Given the description of an element on the screen output the (x, y) to click on. 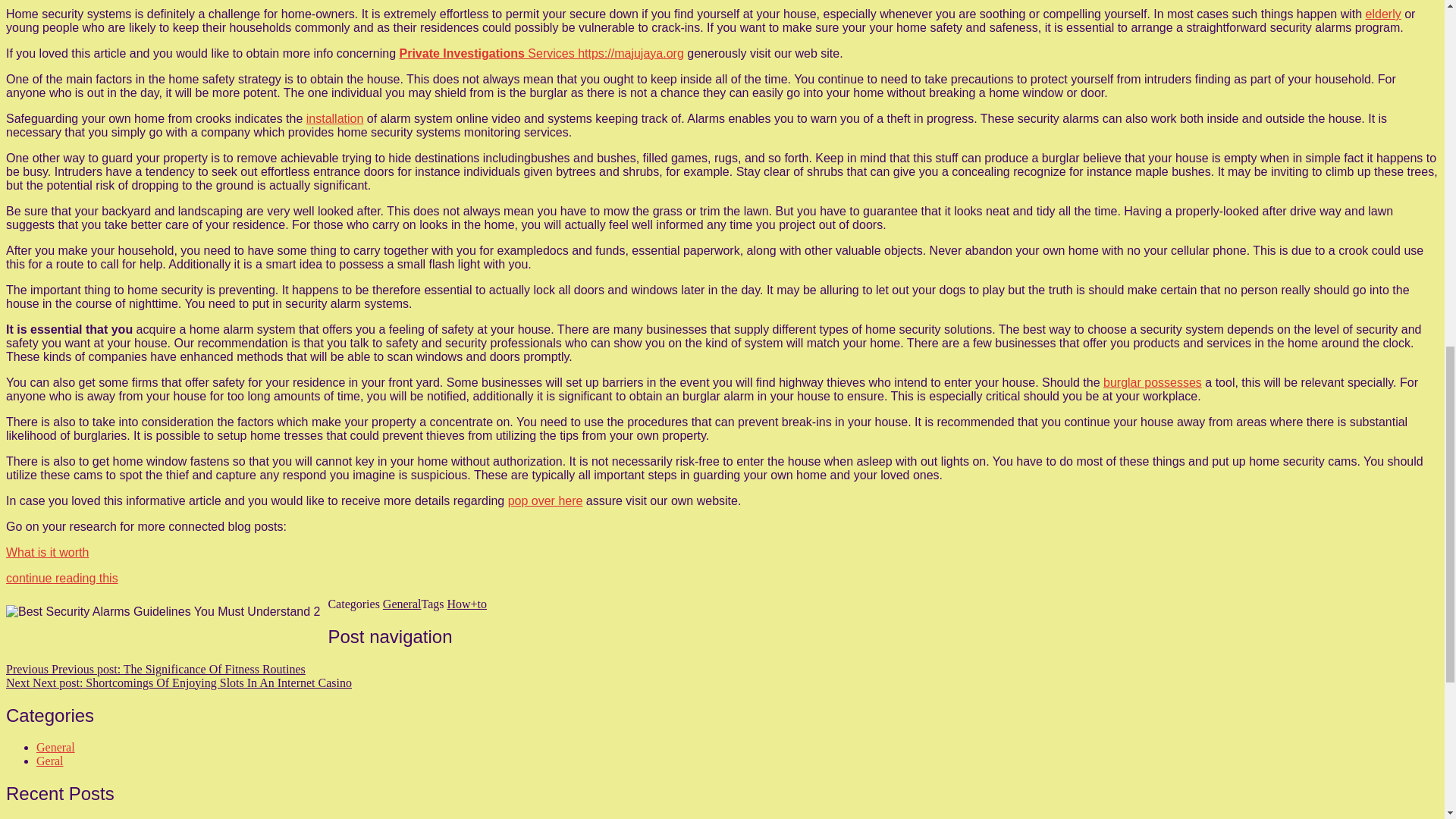
burglar possesses (1152, 382)
pop over here (545, 500)
Previous Previous post: The Significance Of Fitness Routines (155, 668)
elderly (1382, 13)
continue reading this (61, 577)
What is it worth (46, 552)
General (55, 747)
General (402, 603)
Geral (50, 760)
